Given the description of an element on the screen output the (x, y) to click on. 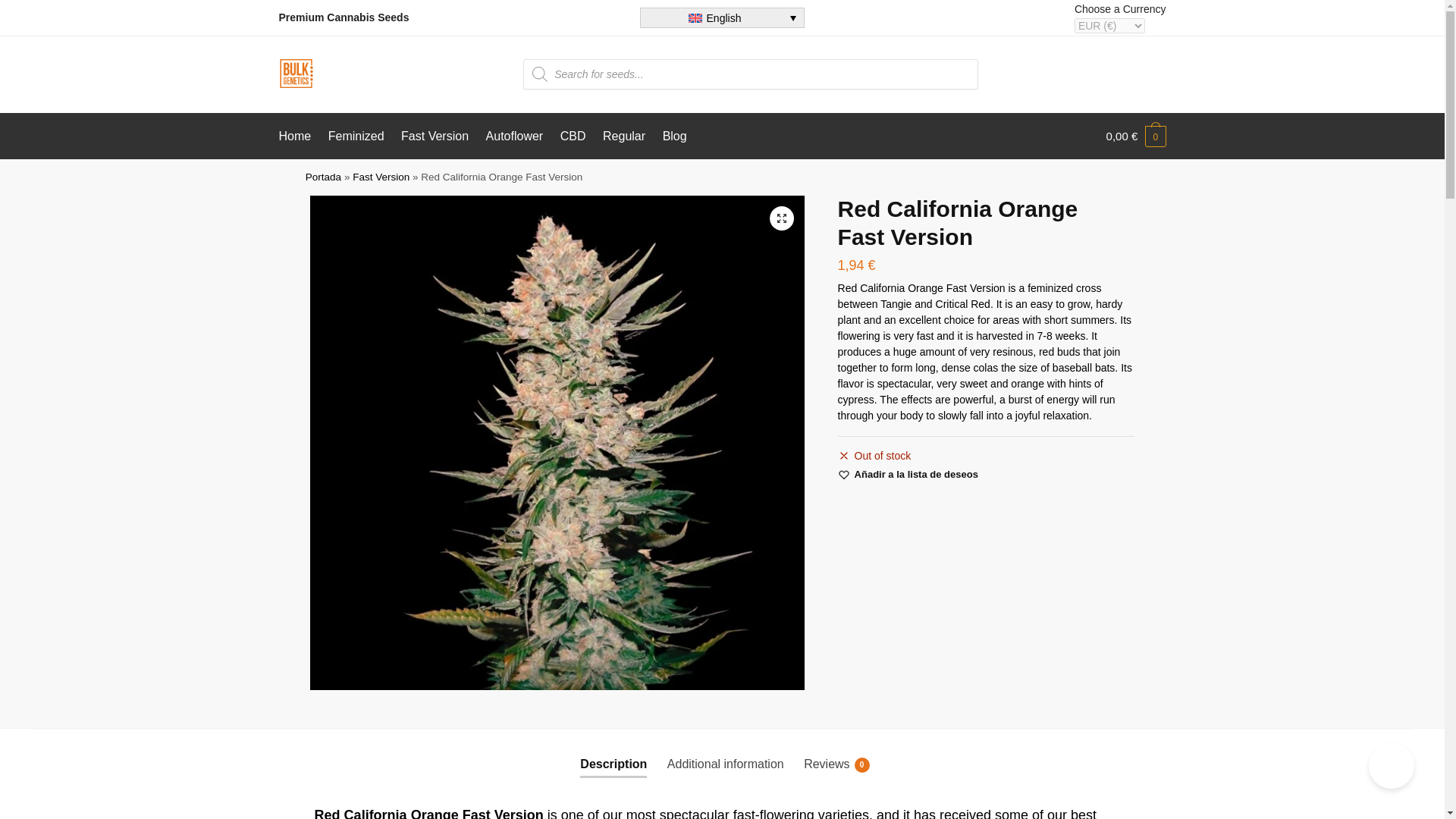
Original price:1.94 (833, 764)
Original price:0 (857, 264)
Skip to navigation (1122, 135)
Fast Version (1136, 135)
Feminized (380, 176)
Autoflower (355, 135)
Regular (514, 135)
Wishlist (623, 135)
English (916, 474)
Additional information (722, 17)
Description (725, 764)
Fast Version (613, 764)
